Given the description of an element on the screen output the (x, y) to click on. 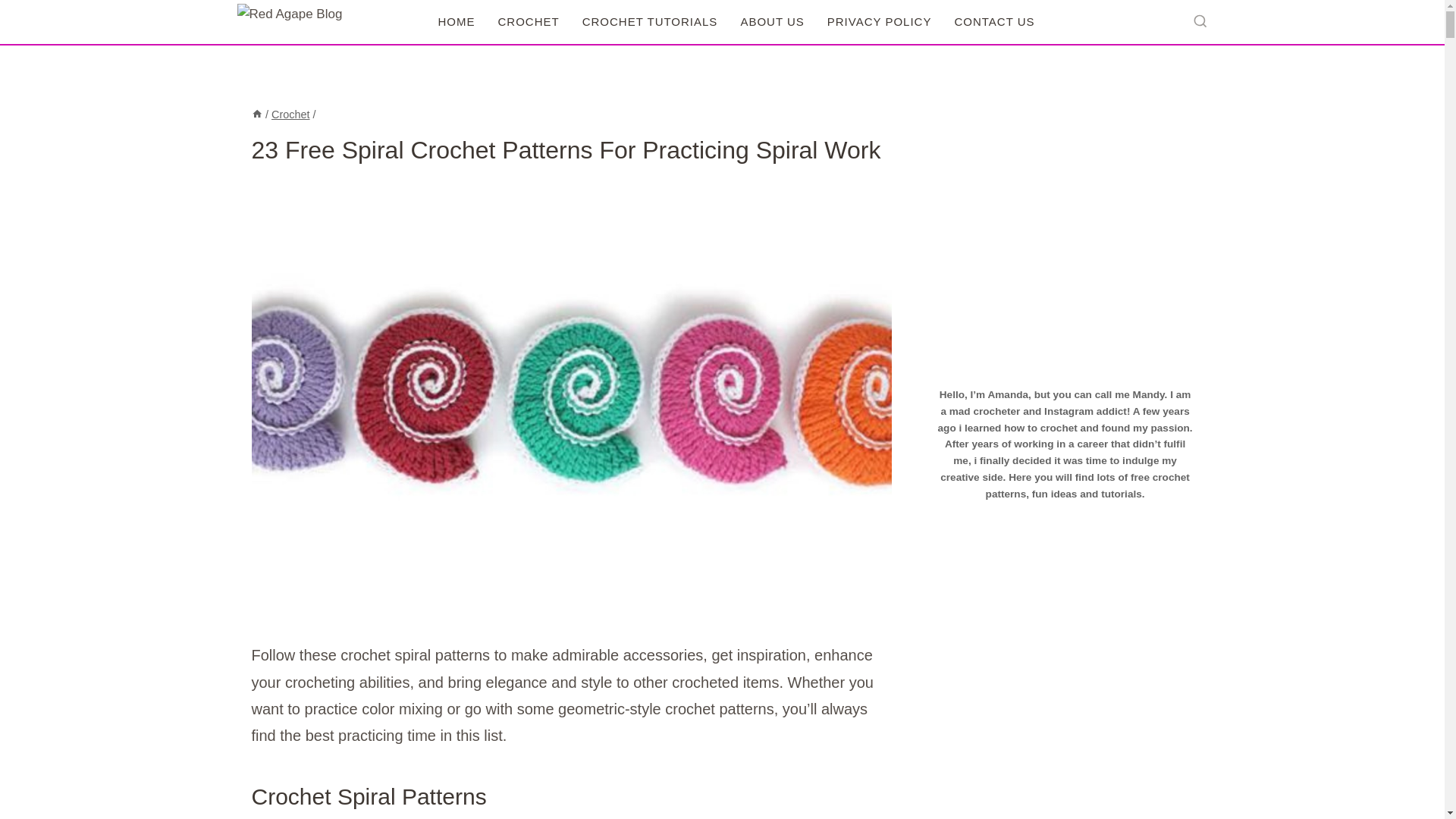
CROCHET (528, 21)
PRIVACY POLICY (879, 21)
Crochet (290, 114)
ABOUT US (772, 21)
HOME (456, 21)
CROCHET TUTORIALS (649, 21)
CONTACT US (993, 21)
